Given the description of an element on the screen output the (x, y) to click on. 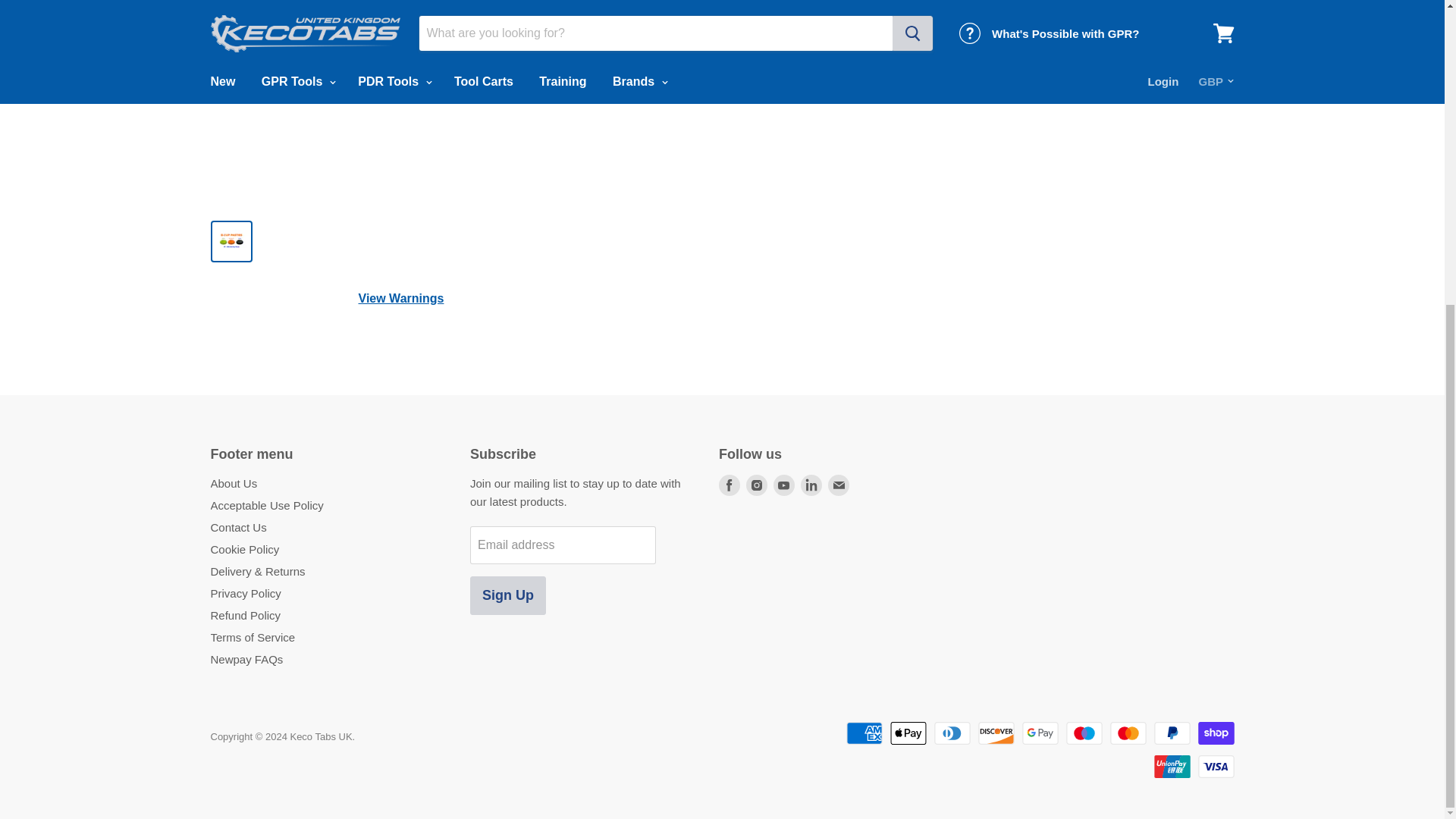
LinkedIn (811, 484)
Discover (996, 732)
Google Pay (1040, 732)
Instagram (756, 484)
Maestro (1083, 732)
Apple Pay (907, 732)
E-mail (838, 484)
American Express (863, 732)
Facebook (729, 484)
Diners Club (952, 732)
